Given the description of an element on the screen output the (x, y) to click on. 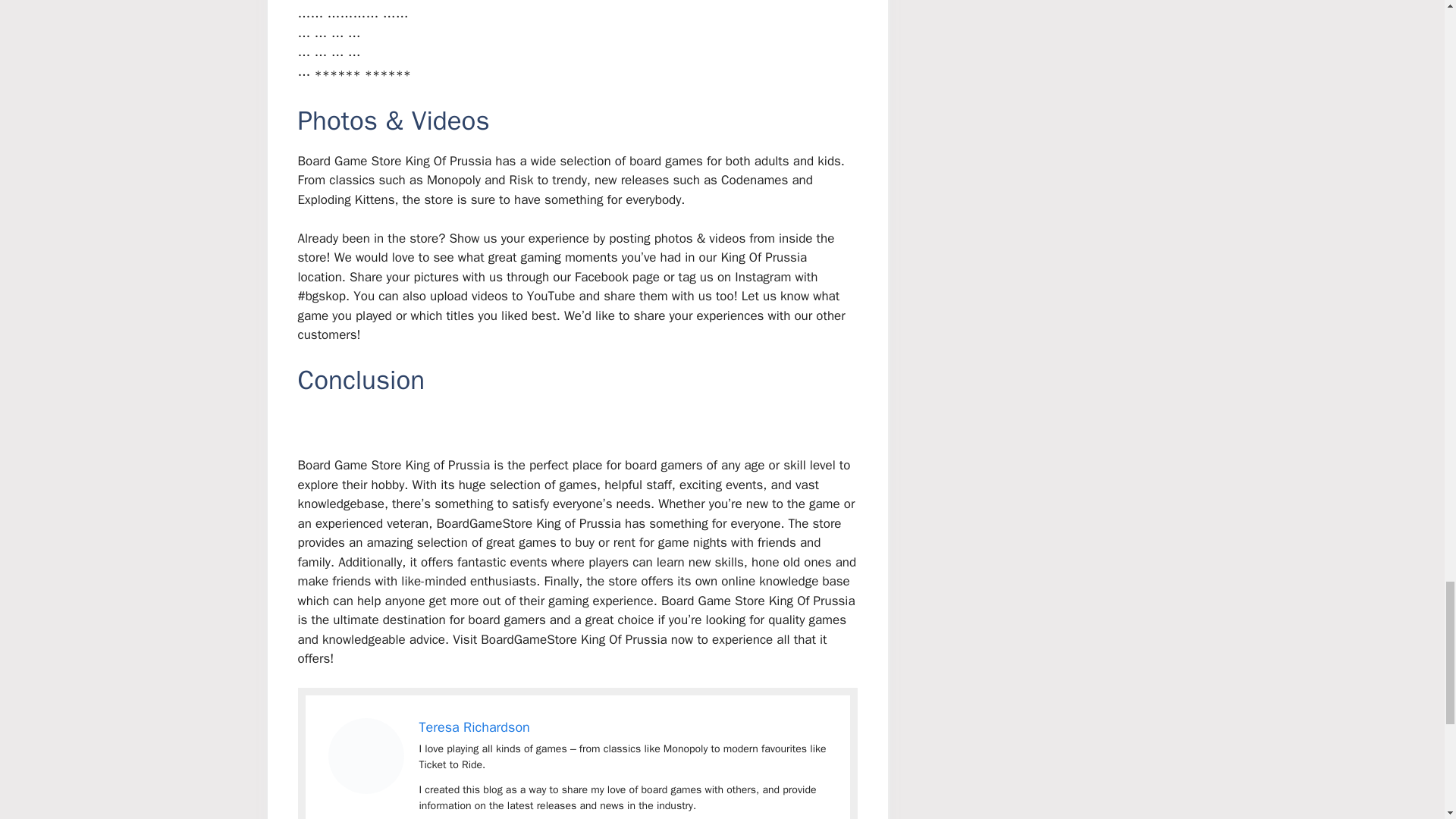
Board Game Store King Of Prussia 2 (365, 755)
